Given the description of an element on the screen output the (x, y) to click on. 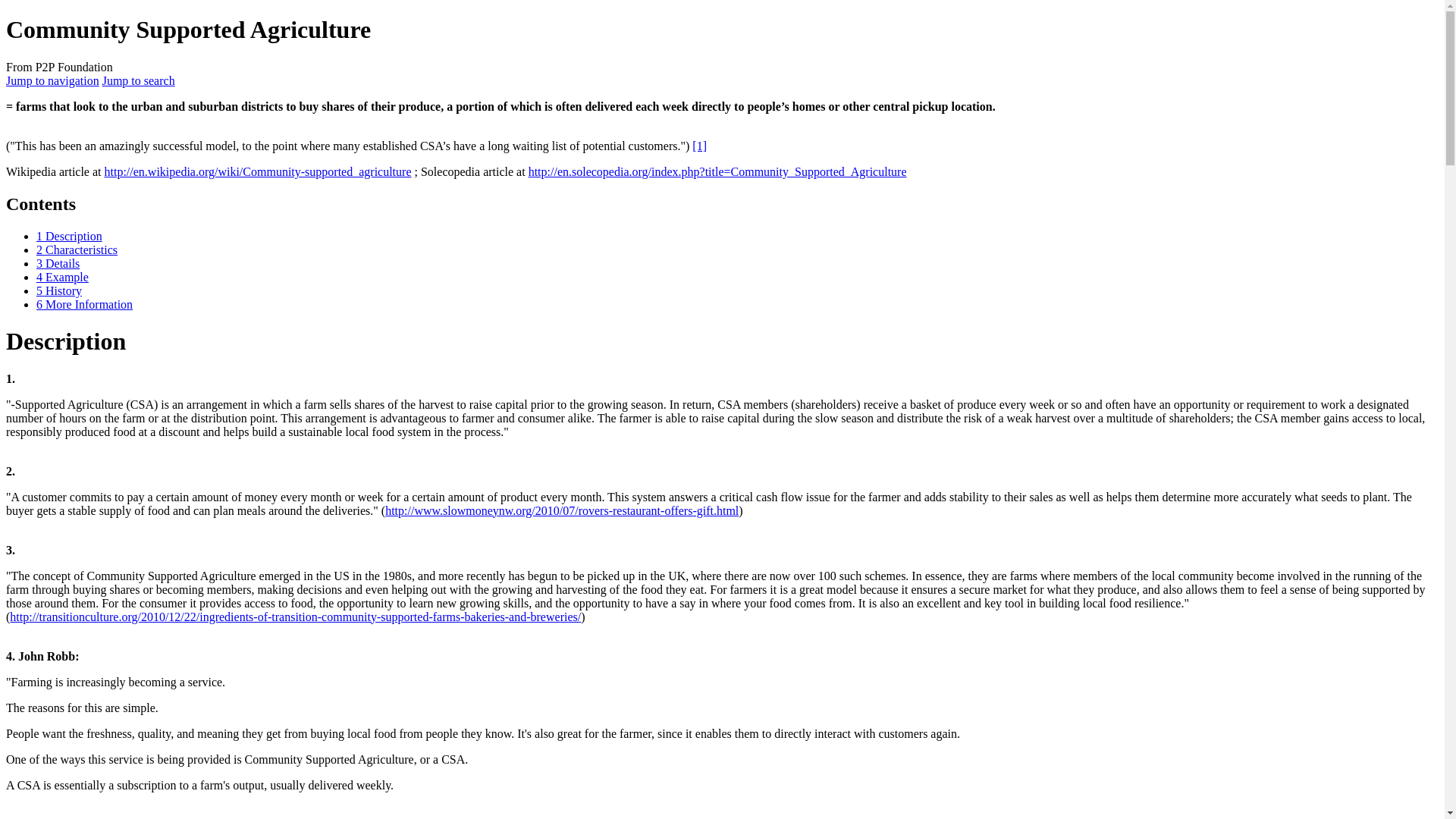
5 History (58, 290)
Jump to search (137, 80)
3 Details (58, 263)
6 More Information (84, 304)
Jump to navigation (52, 80)
4 Example (62, 277)
1 Description (68, 236)
2 Characteristics (76, 249)
